Given the description of an element on the screen output the (x, y) to click on. 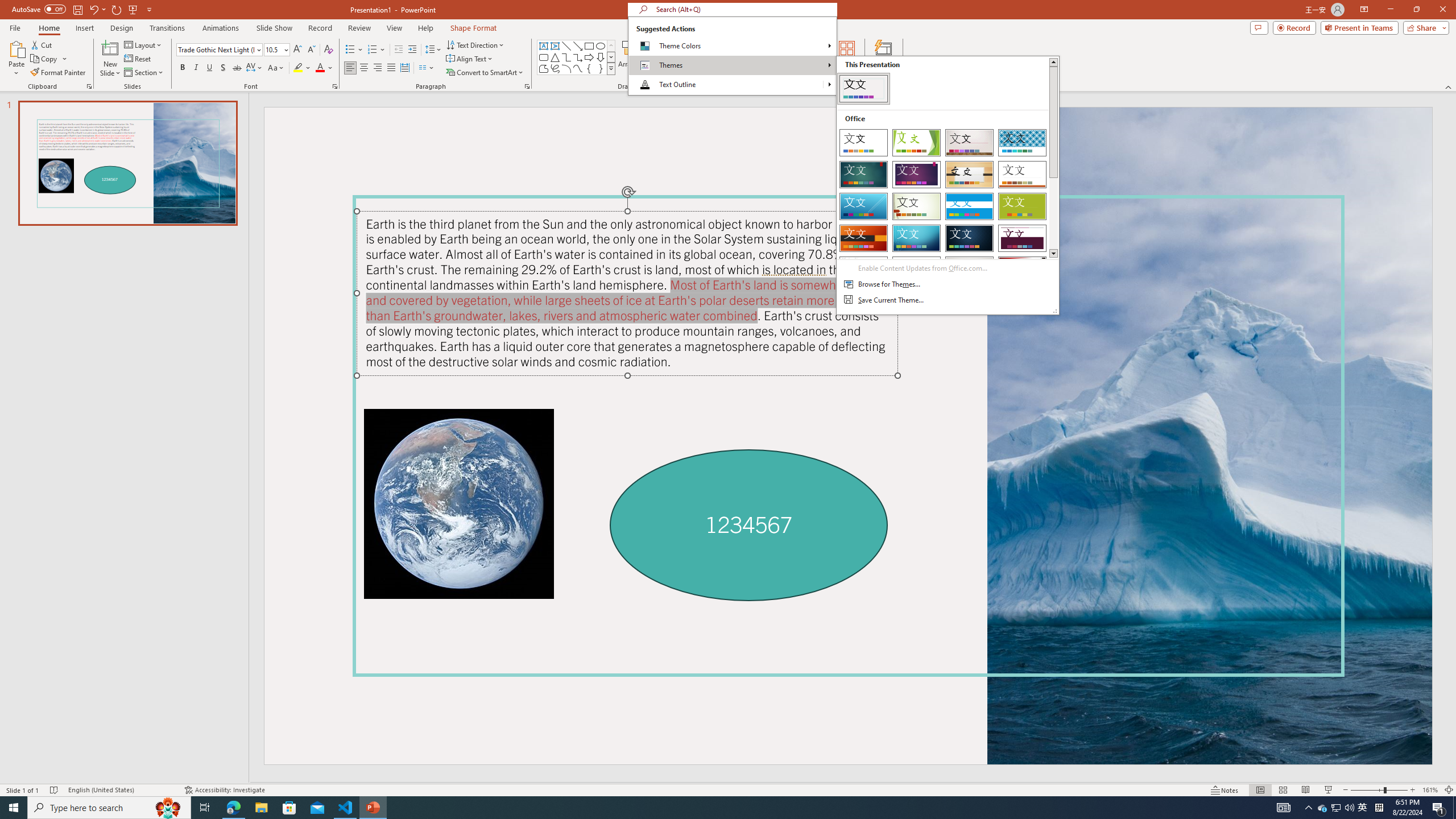
Theme Colors (731, 45)
Italic (195, 67)
Center (363, 67)
Shape Format (473, 28)
